Given the description of an element on the screen output the (x, y) to click on. 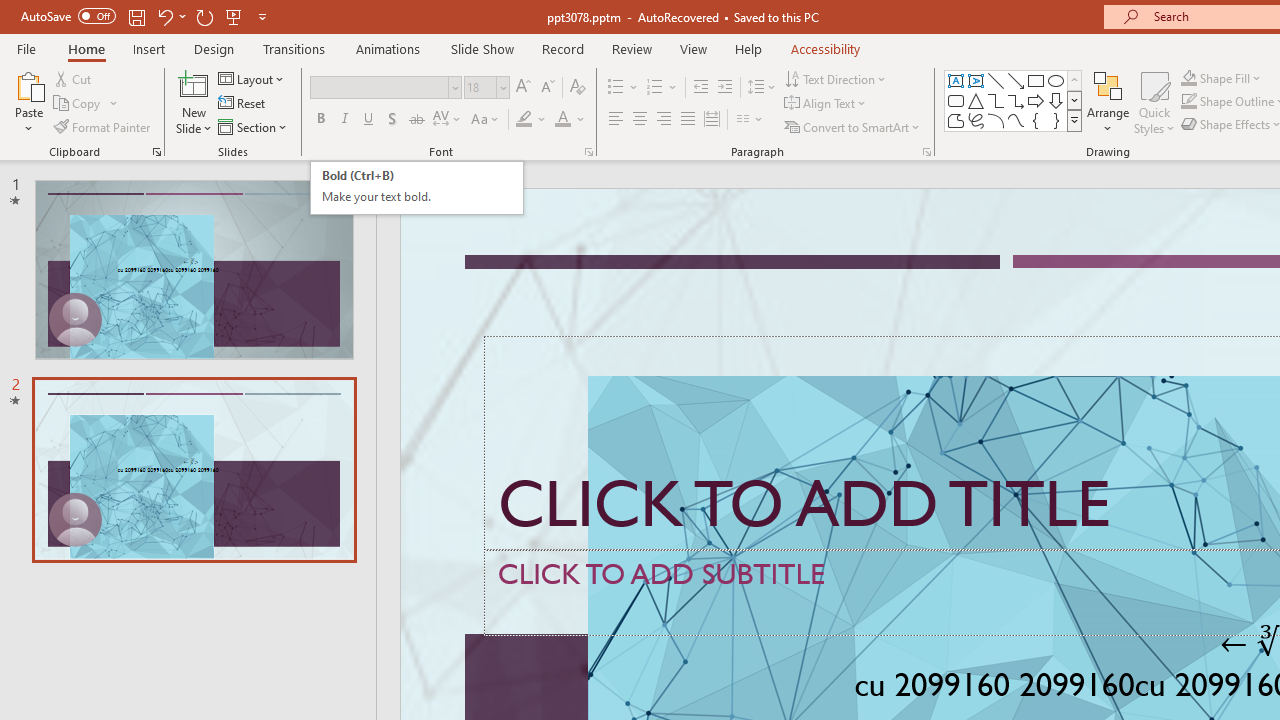
Font Color (569, 119)
New Slide (193, 102)
Italic (344, 119)
Font Color Red (562, 119)
Save (136, 15)
Paragraph... (926, 151)
Line Spacing (762, 87)
Open (502, 87)
Row Down (1074, 100)
Shape Fill Dark Green, Accent 2 (1188, 78)
Bullets (616, 87)
